Given the description of an element on the screen output the (x, y) to click on. 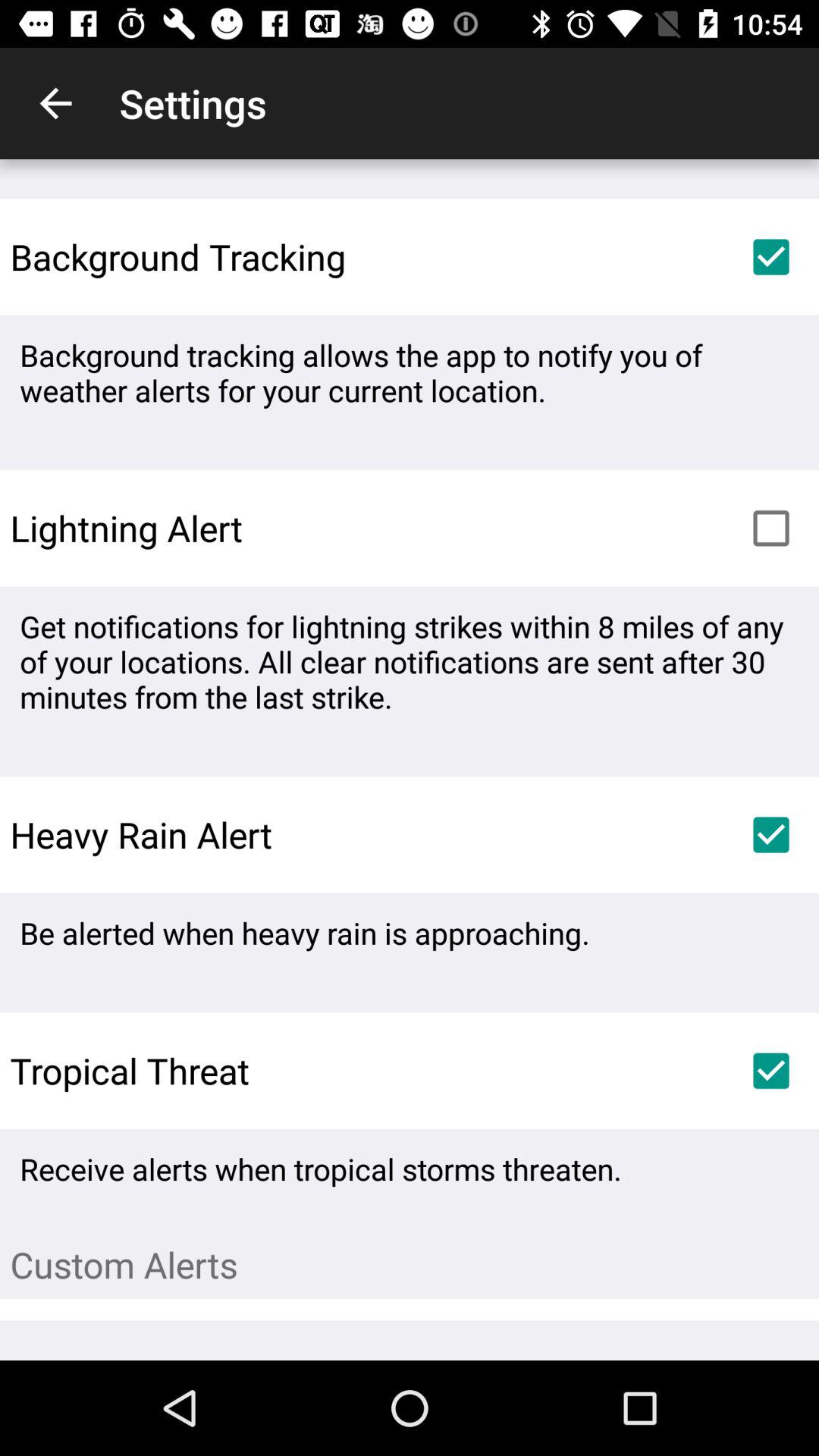
its a checkbox (771, 834)
